Given the description of an element on the screen output the (x, y) to click on. 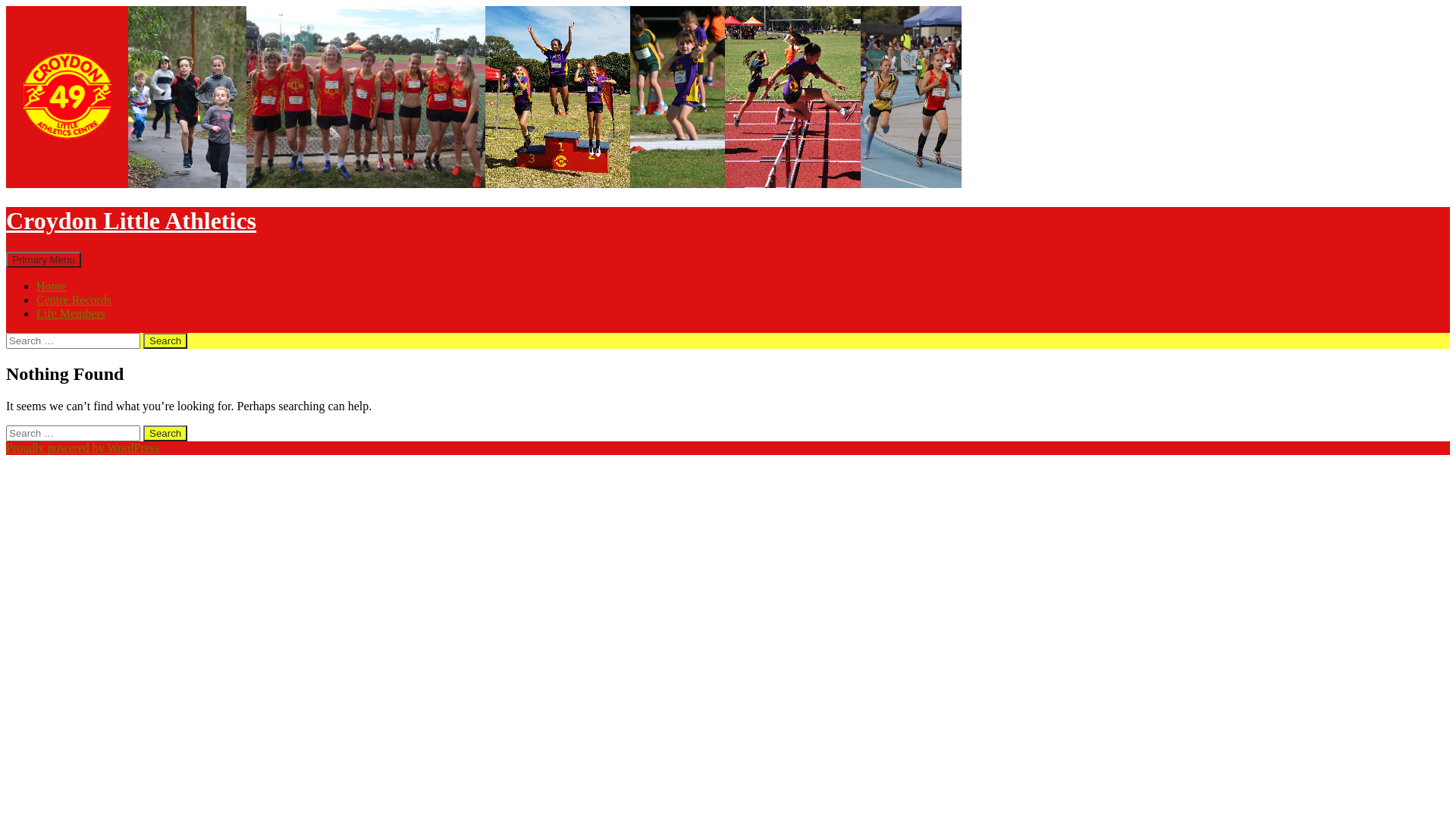
Primary Menu Element type: text (43, 259)
Croydon Little Athletics Element type: text (131, 220)
Home Element type: text (50, 285)
Life Members Element type: text (70, 313)
Search Element type: text (165, 340)
Skip to content Element type: text (80, 251)
Search Element type: text (5, 251)
Search Element type: text (165, 433)
Centre Records Element type: text (73, 299)
Proudly powered by WordPress Element type: text (82, 447)
